Given the description of an element on the screen output the (x, y) to click on. 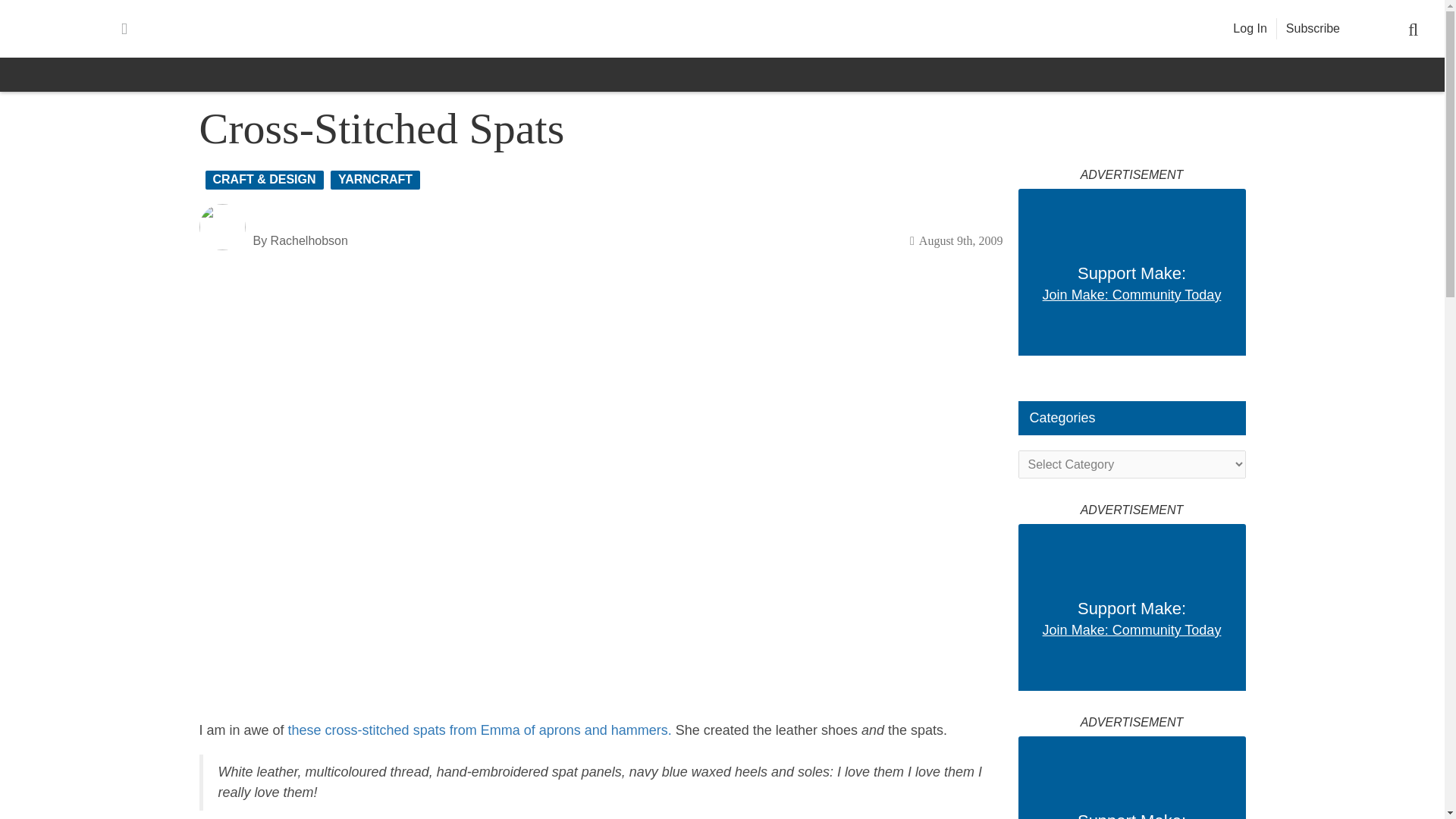
Log In (1249, 28)
